Given the description of an element on the screen output the (x, y) to click on. 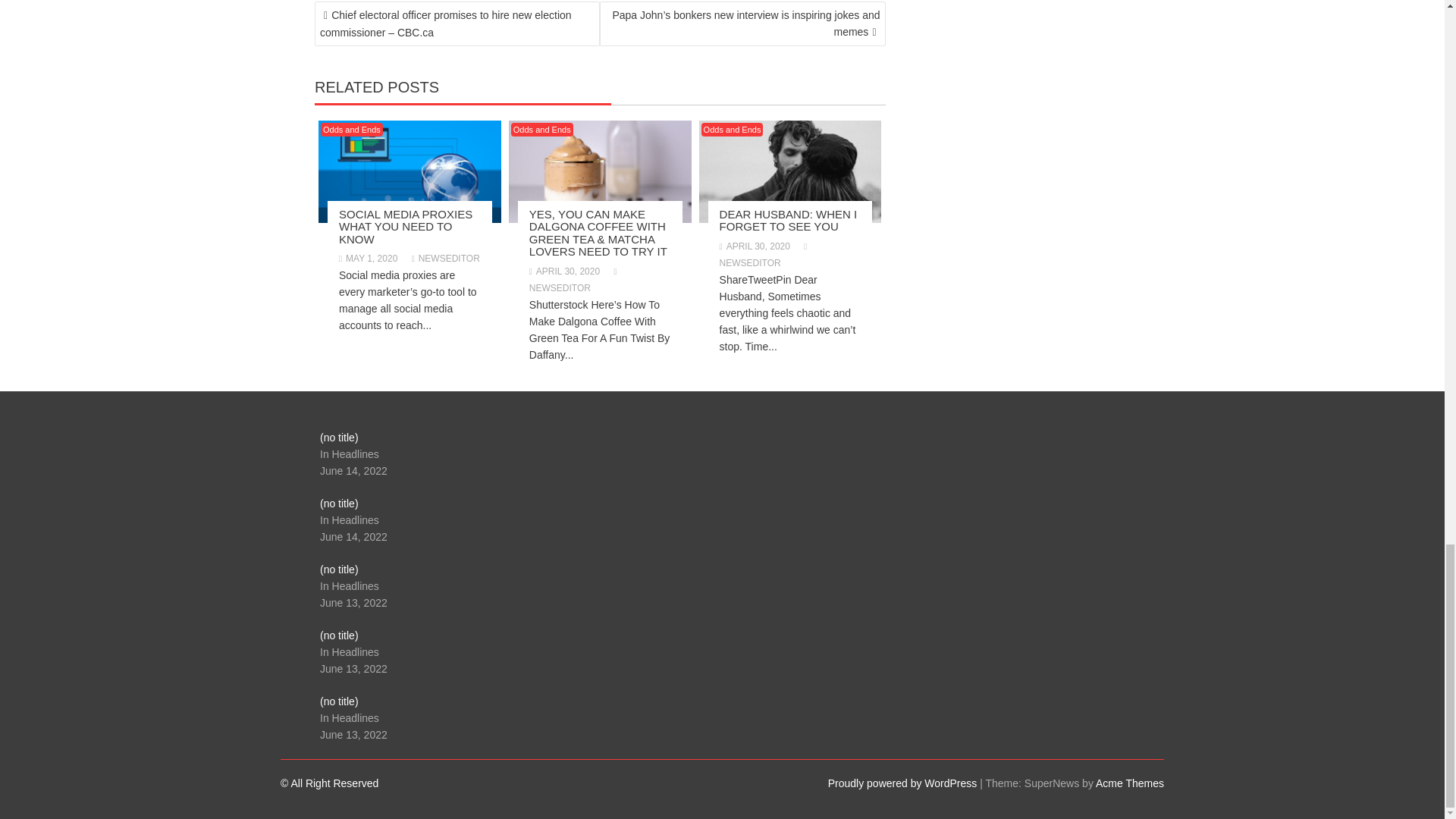
Odds and Ends (351, 129)
SOCIAL MEDIA PROXIES WHAT YOU NEED TO KNOW (405, 226)
NEWSEDITOR (446, 258)
MAY 1, 2020 (368, 258)
Odds and Ends (542, 129)
APRIL 30, 2020 (564, 271)
